Given the description of an element on the screen output the (x, y) to click on. 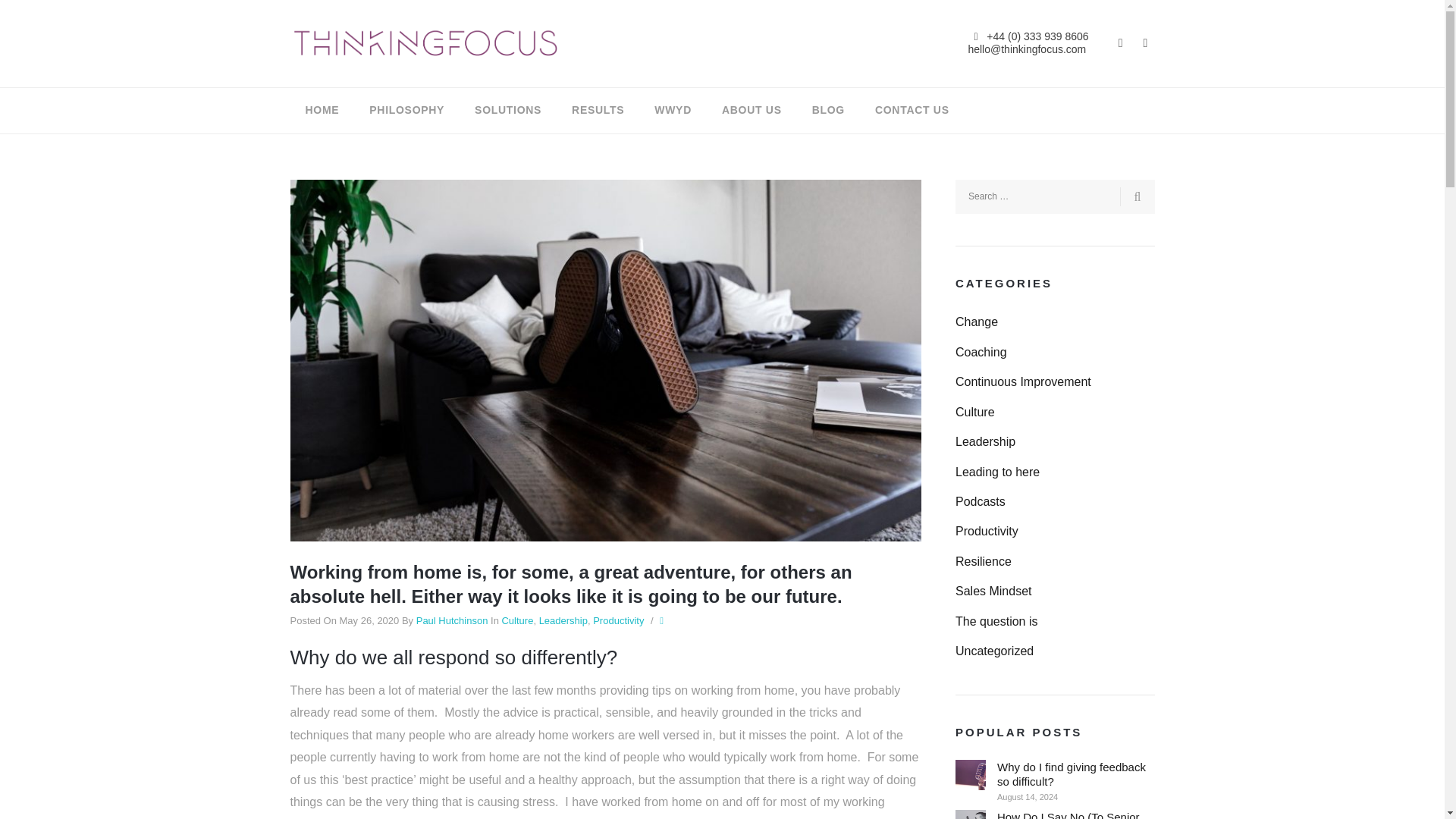
Why do I find giving feedback so difficult? (970, 775)
Why do I find giving feedback so difficult? (1075, 774)
